Given the description of an element on the screen output the (x, y) to click on. 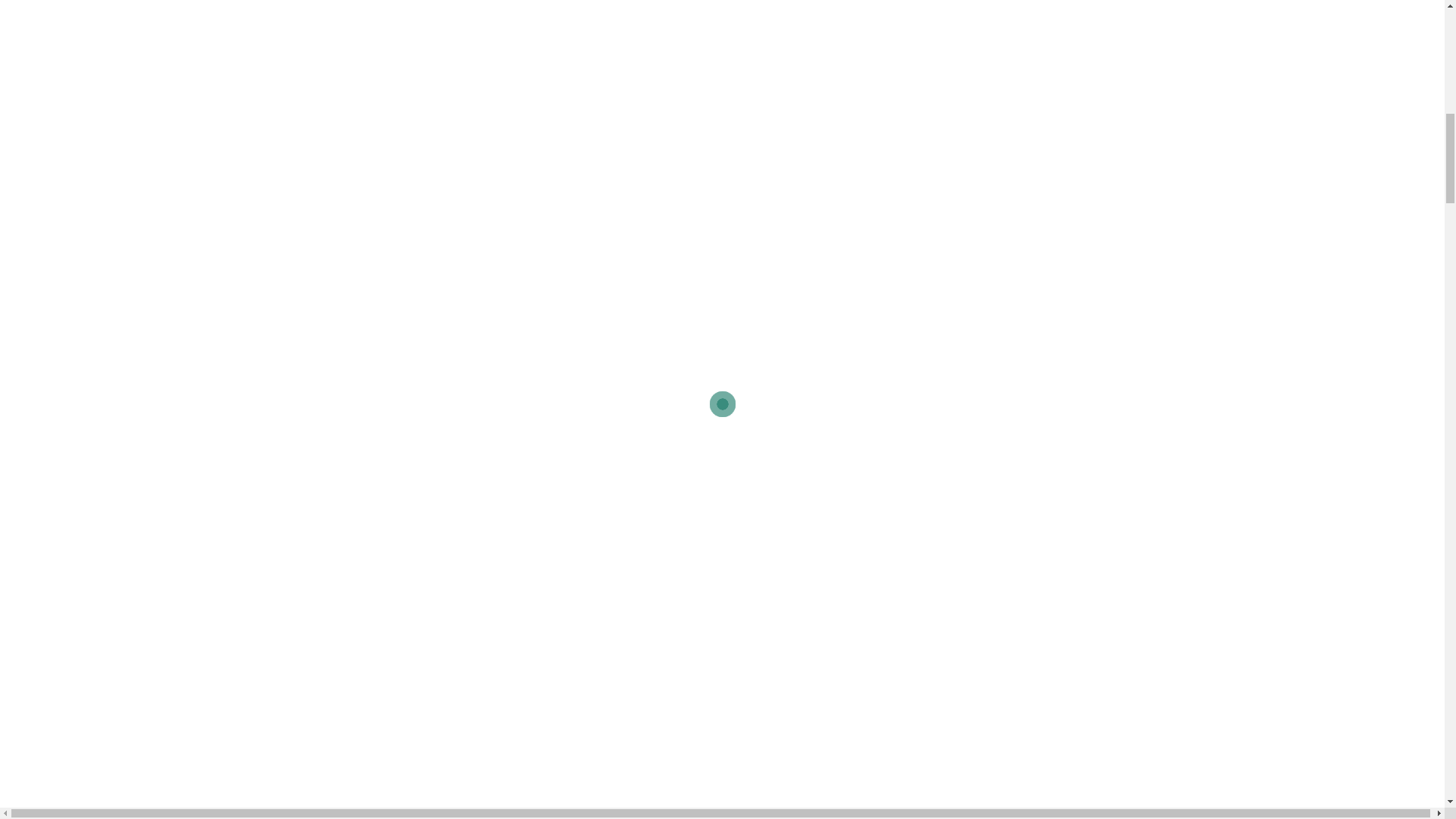
News & Events Element type: text (53, 181)
Home Element type: text (28, 122)
Check Out Our Menu Element type: text (582, 162)
Contact Element type: text (33, 241)
Reservation Element type: text (862, 162)
About Element type: text (28, 142)
Gallery Element type: text (32, 221)
Menu Element type: text (28, 162)
Book Element type: text (26, 201)
02/644.26.63 Element type: text (180, 21)
greenlab.louise@gmail.com Element type: text (68, 21)
